Given the description of an element on the screen output the (x, y) to click on. 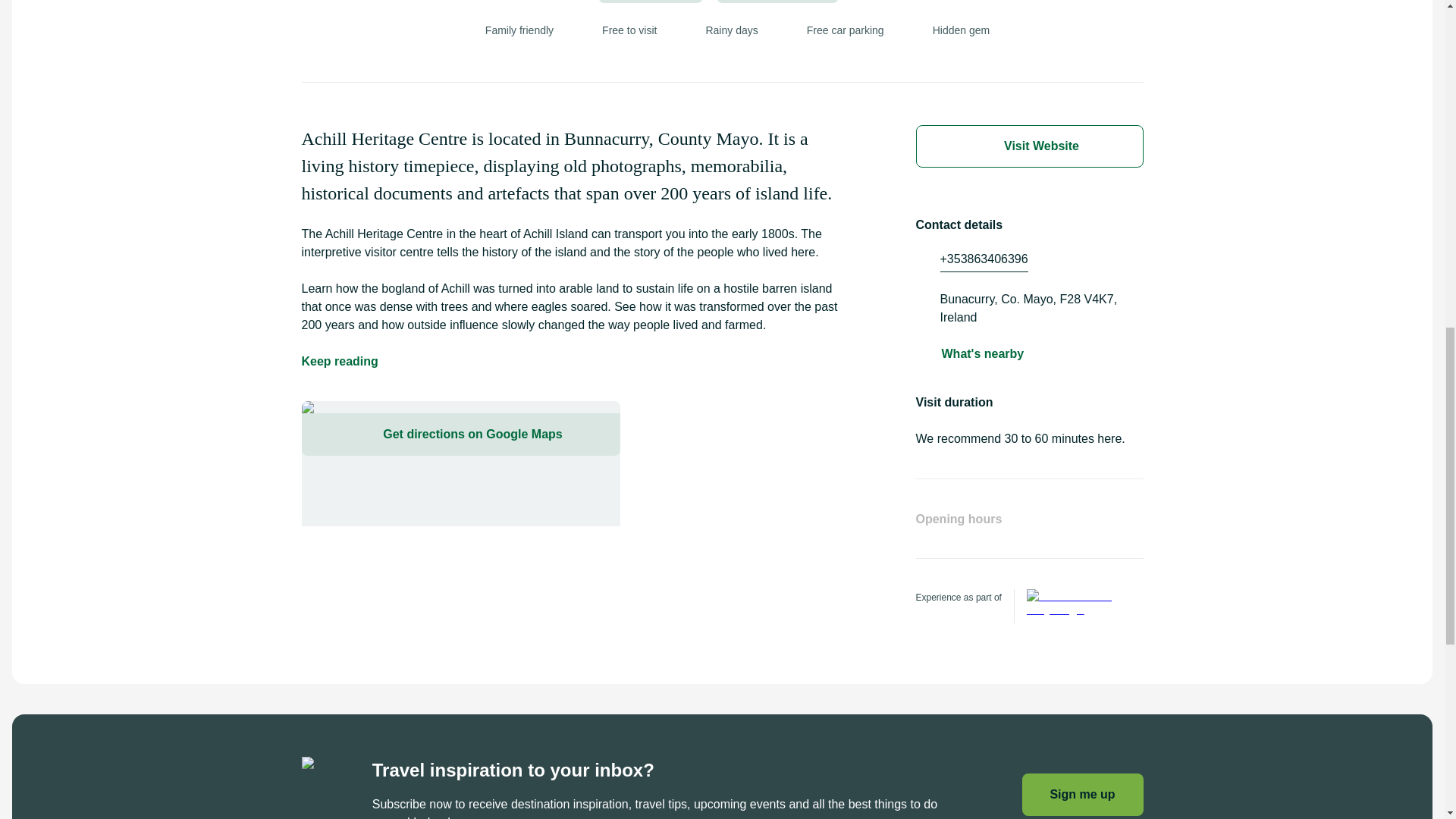
Visit Website (1028, 146)
Get directions on Google Maps (460, 463)
Keep reading (339, 361)
HISTORY AND HERITAGE (777, 1)
Opening hours (1028, 533)
What's nearby (983, 353)
Get directions on Google Maps (460, 434)
FREE THINGS TO DO (650, 1)
